Given the description of an element on the screen output the (x, y) to click on. 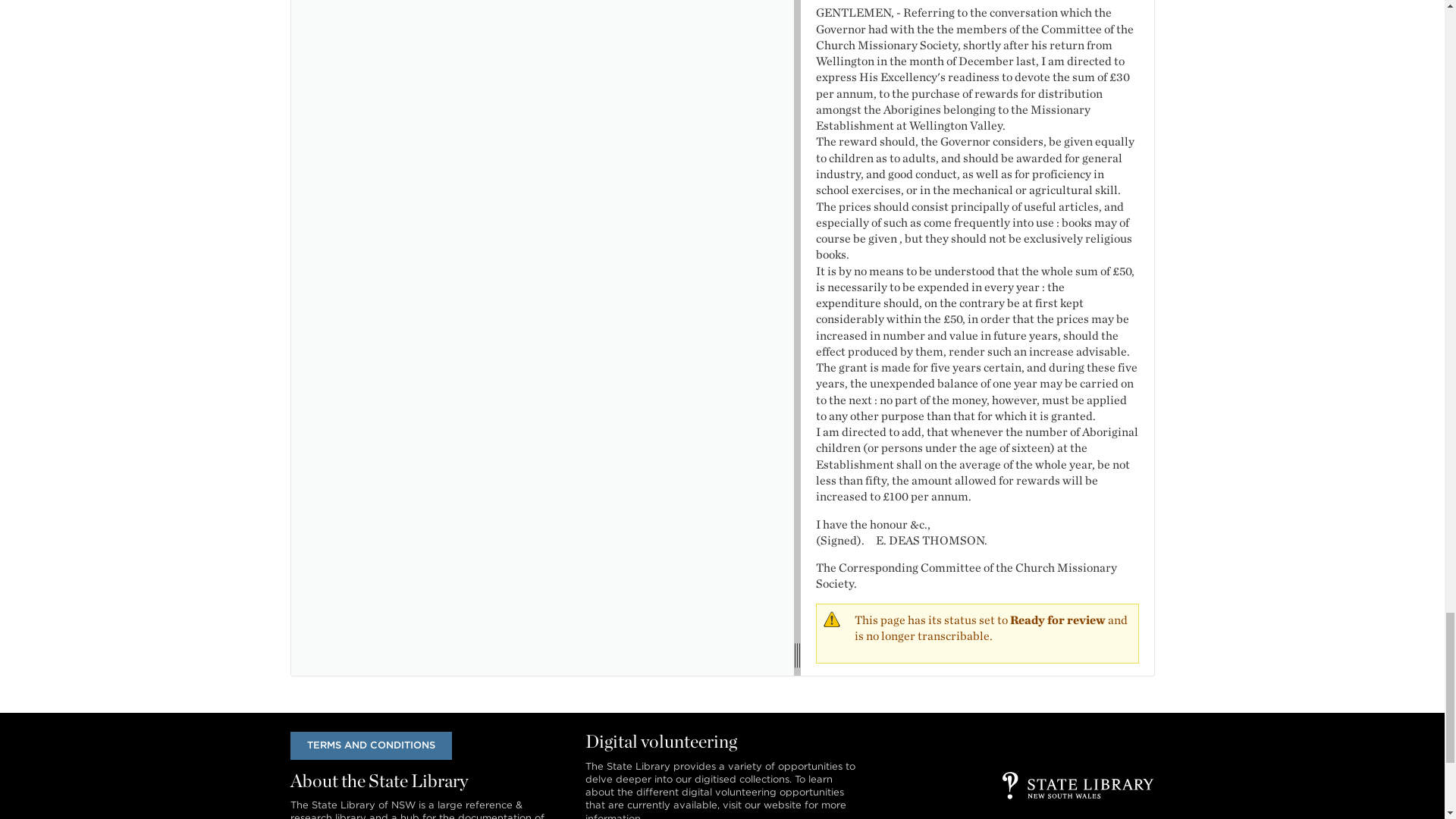
State Library of NSW (1078, 786)
